Given the description of an element on the screen output the (x, y) to click on. 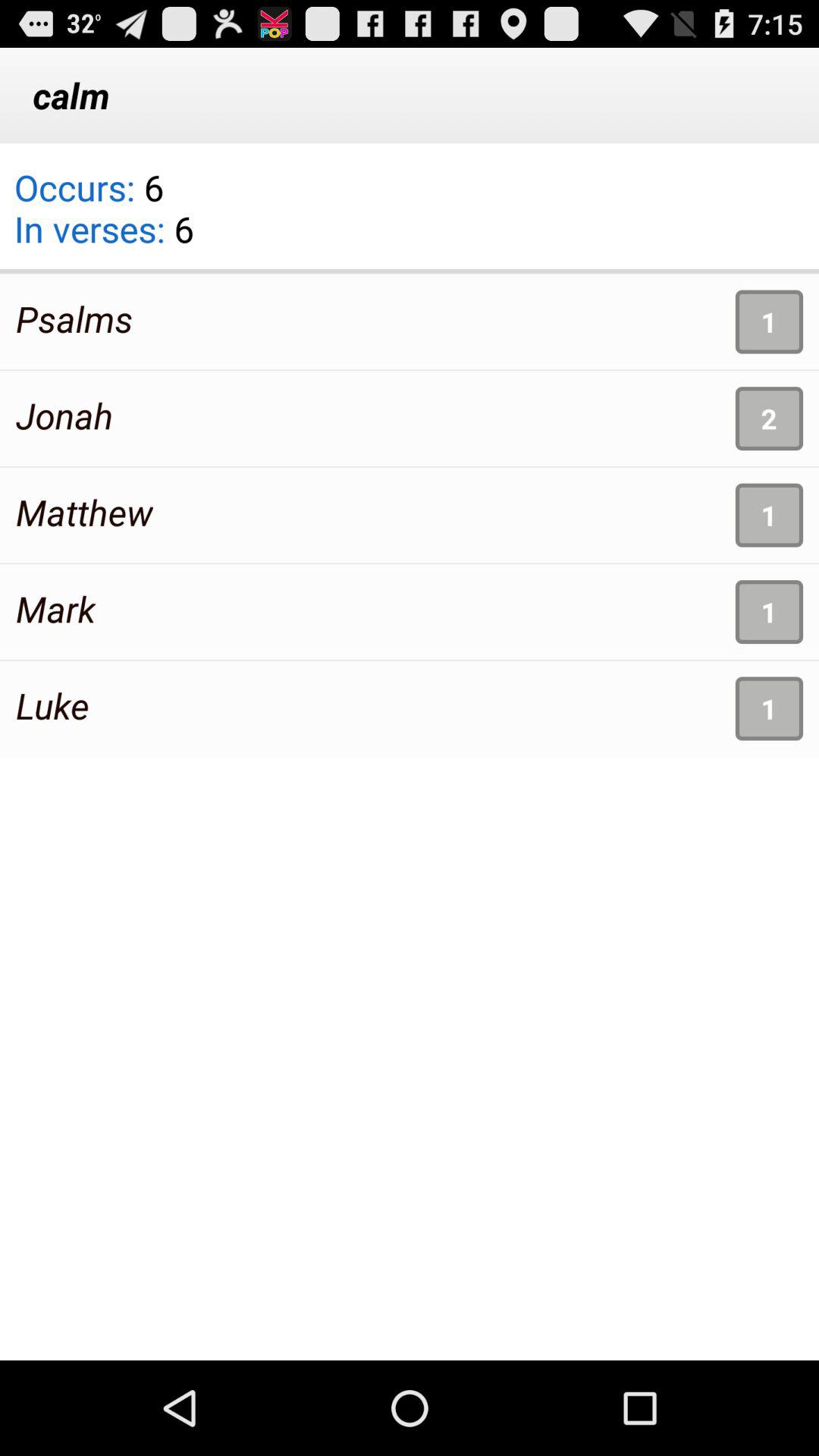
swipe until the psalms (74, 318)
